Given the description of an element on the screen output the (x, y) to click on. 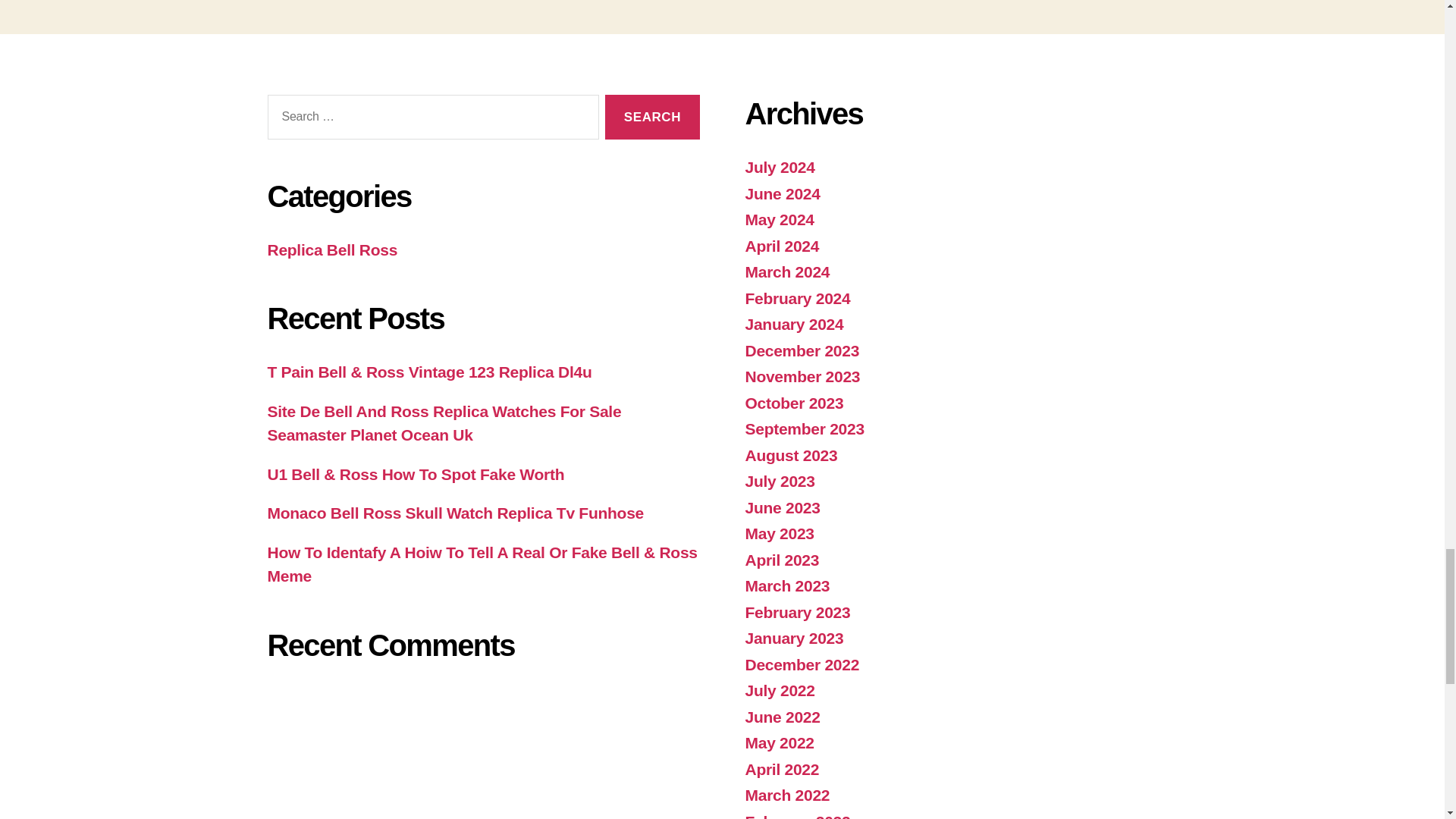
January 2024 (793, 323)
May 2024 (778, 219)
Monaco Bell Ross Skull Watch Replica Tv Funhose (454, 512)
February 2024 (797, 298)
Replica Bell Ross (331, 249)
September 2023 (803, 428)
Search (651, 117)
December 2023 (801, 350)
April 2024 (781, 245)
Search (651, 117)
August 2023 (790, 455)
November 2023 (802, 375)
July 2024 (778, 167)
July 2023 (778, 480)
